Given the description of an element on the screen output the (x, y) to click on. 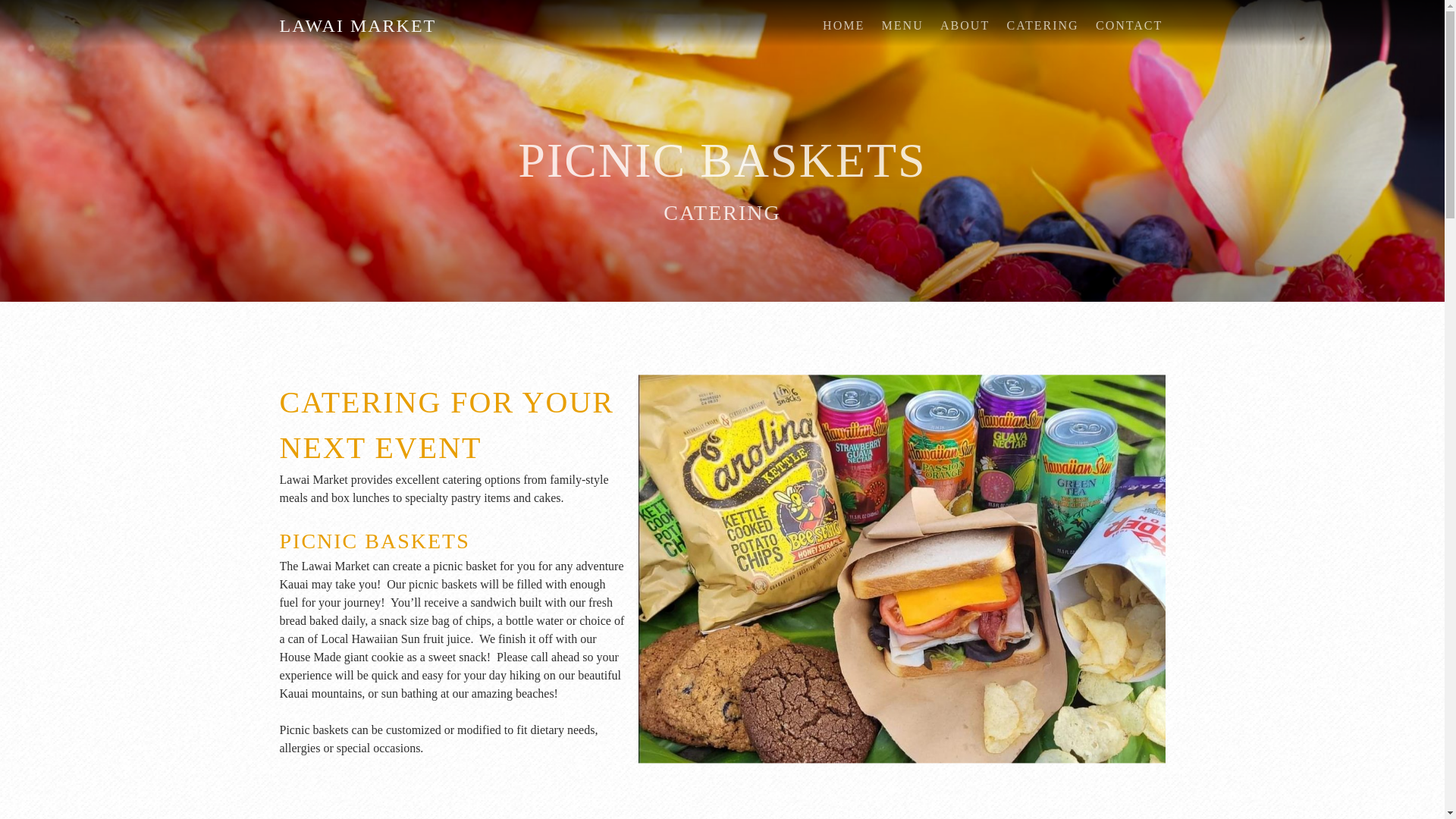
CATERING (721, 213)
ABOUT (964, 25)
CATERING (721, 212)
PICNIC BASKETS (722, 160)
CONTACT (1129, 25)
HOME (843, 25)
MENU (901, 25)
PICNIC BASKETS (722, 160)
CATERING (1042, 25)
